Given the description of an element on the screen output the (x, y) to click on. 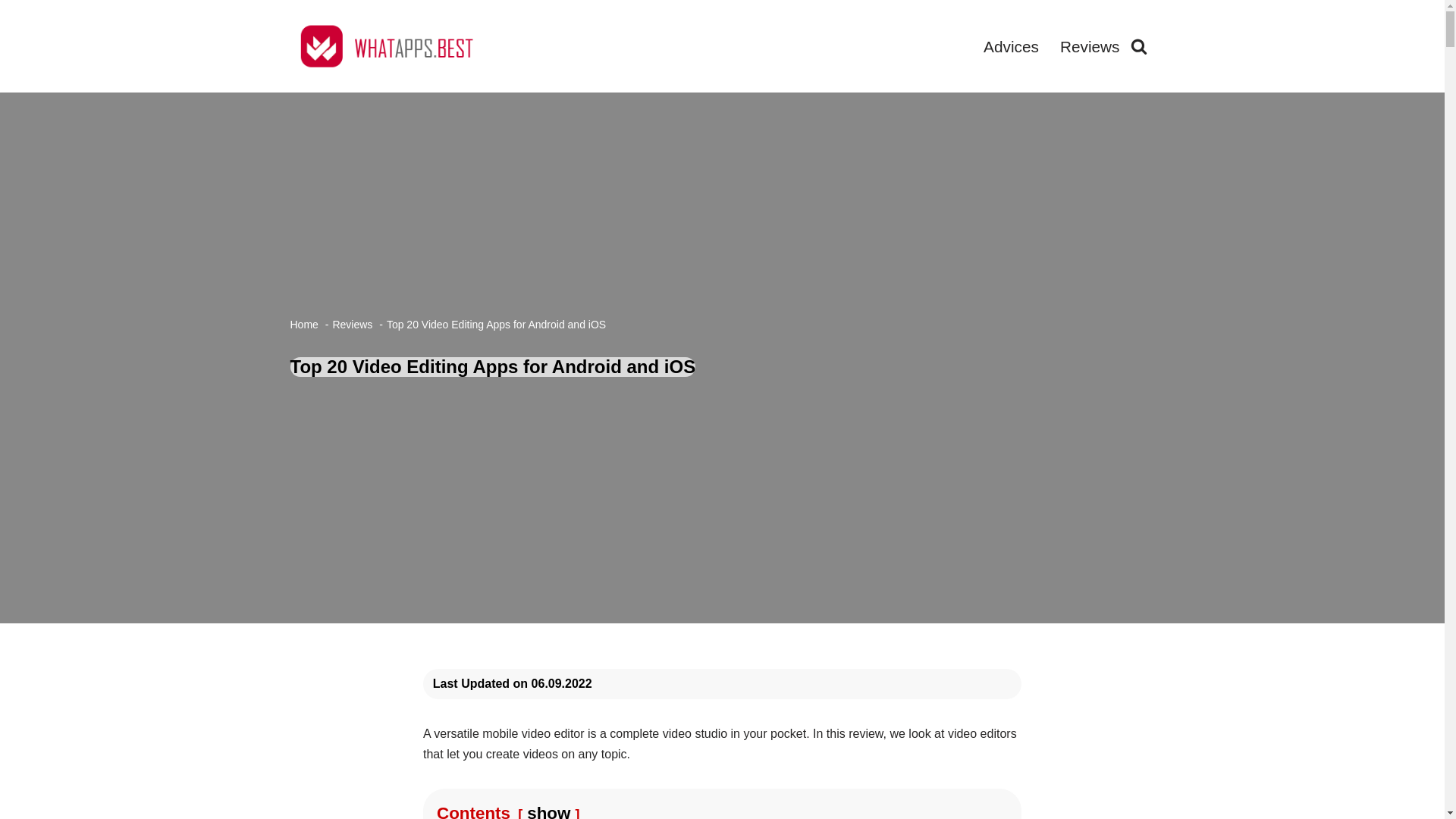
show (548, 811)
Skip to content (11, 31)
Reviews (351, 324)
Advices (1011, 45)
Home (303, 324)
Reviews (1089, 45)
